Given the description of an element on the screen output the (x, y) to click on. 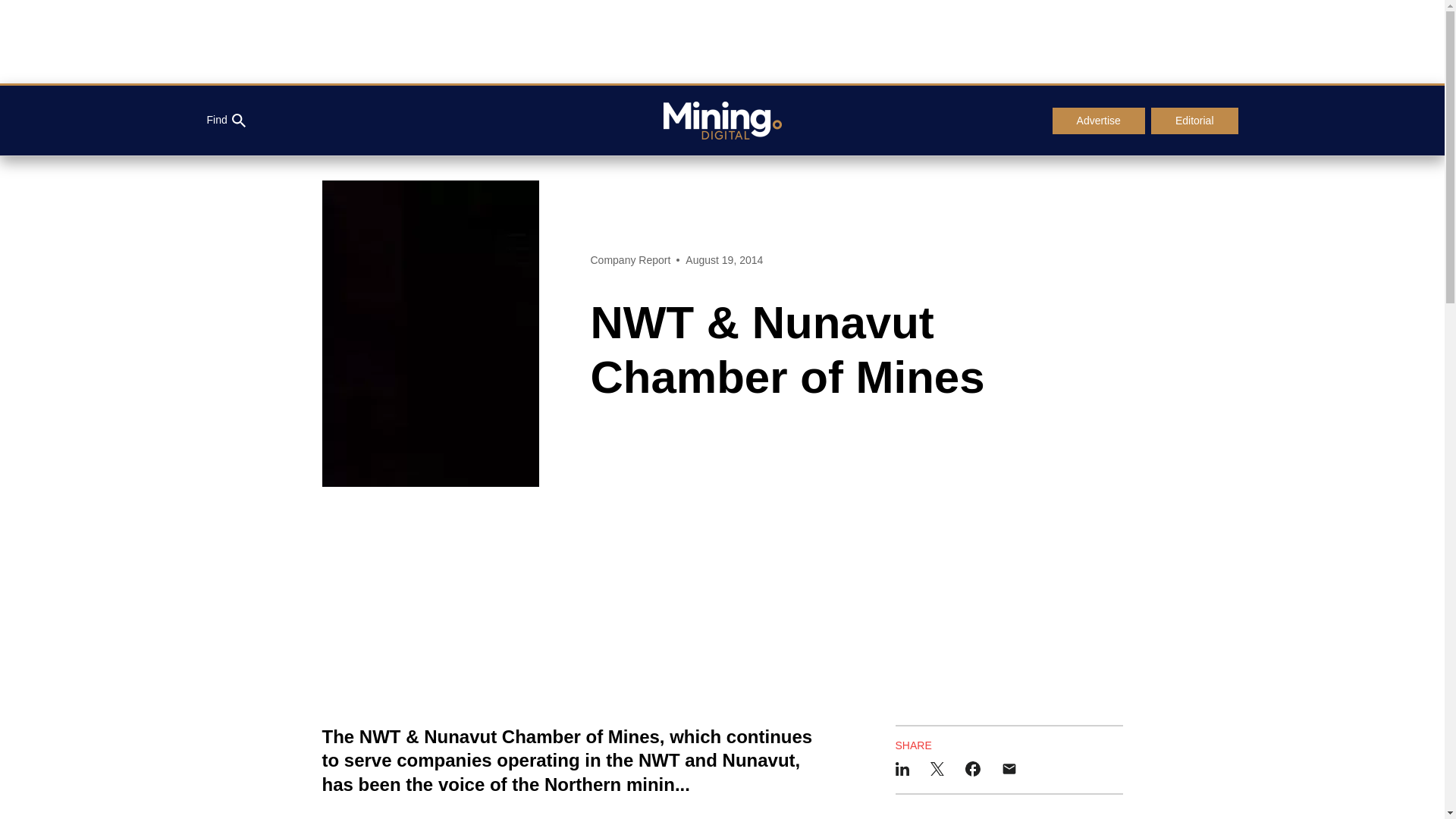
Advertise (1098, 121)
Editorial (1195, 121)
Find (225, 120)
